Given the description of an element on the screen output the (x, y) to click on. 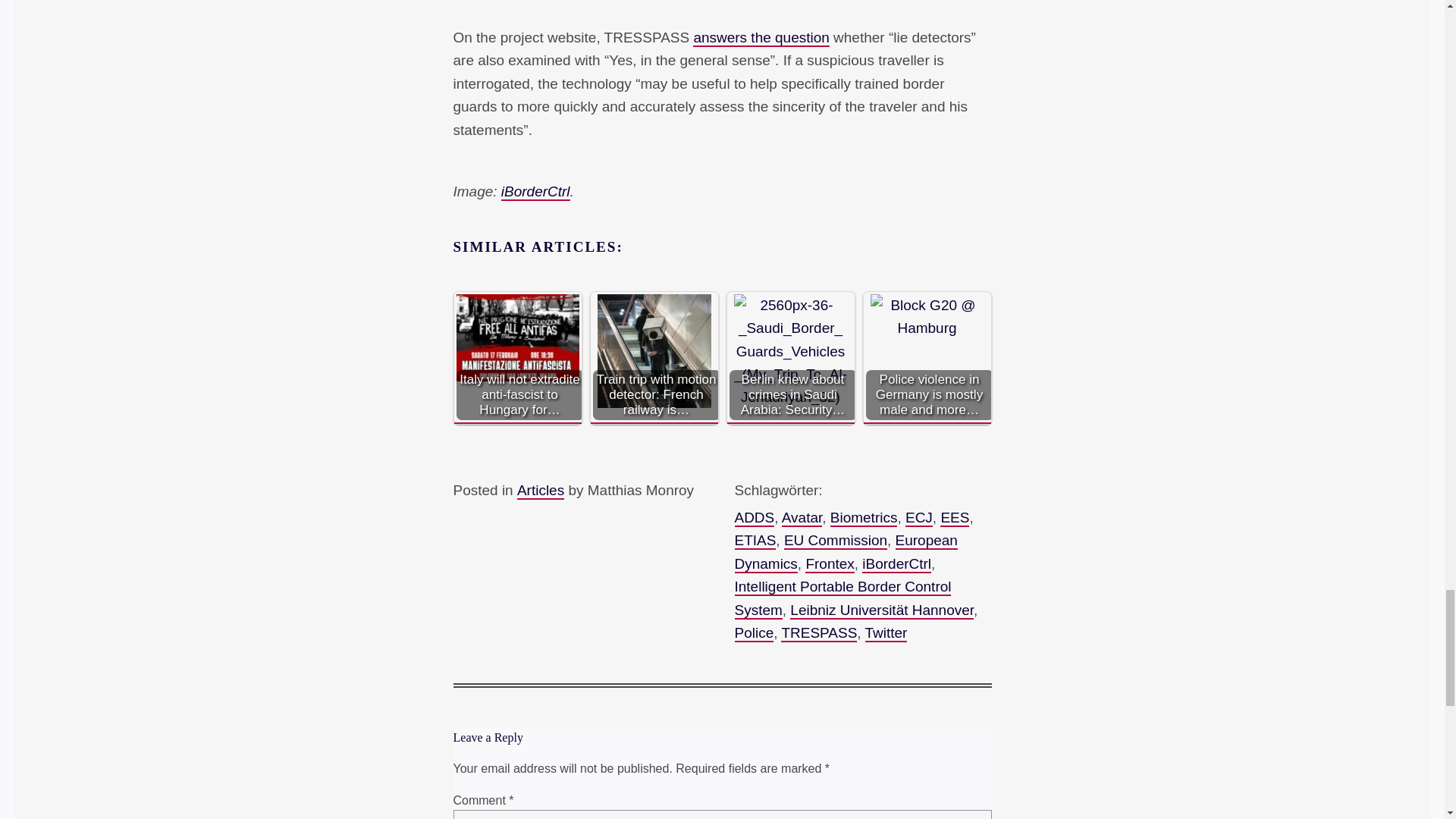
Frontex (829, 564)
EU Commission (835, 540)
ETIAS (754, 540)
Biometrics (863, 518)
ECJ (919, 518)
iBorderCtrl (535, 191)
answers the question (760, 37)
ADDS (753, 518)
